Given the description of an element on the screen output the (x, y) to click on. 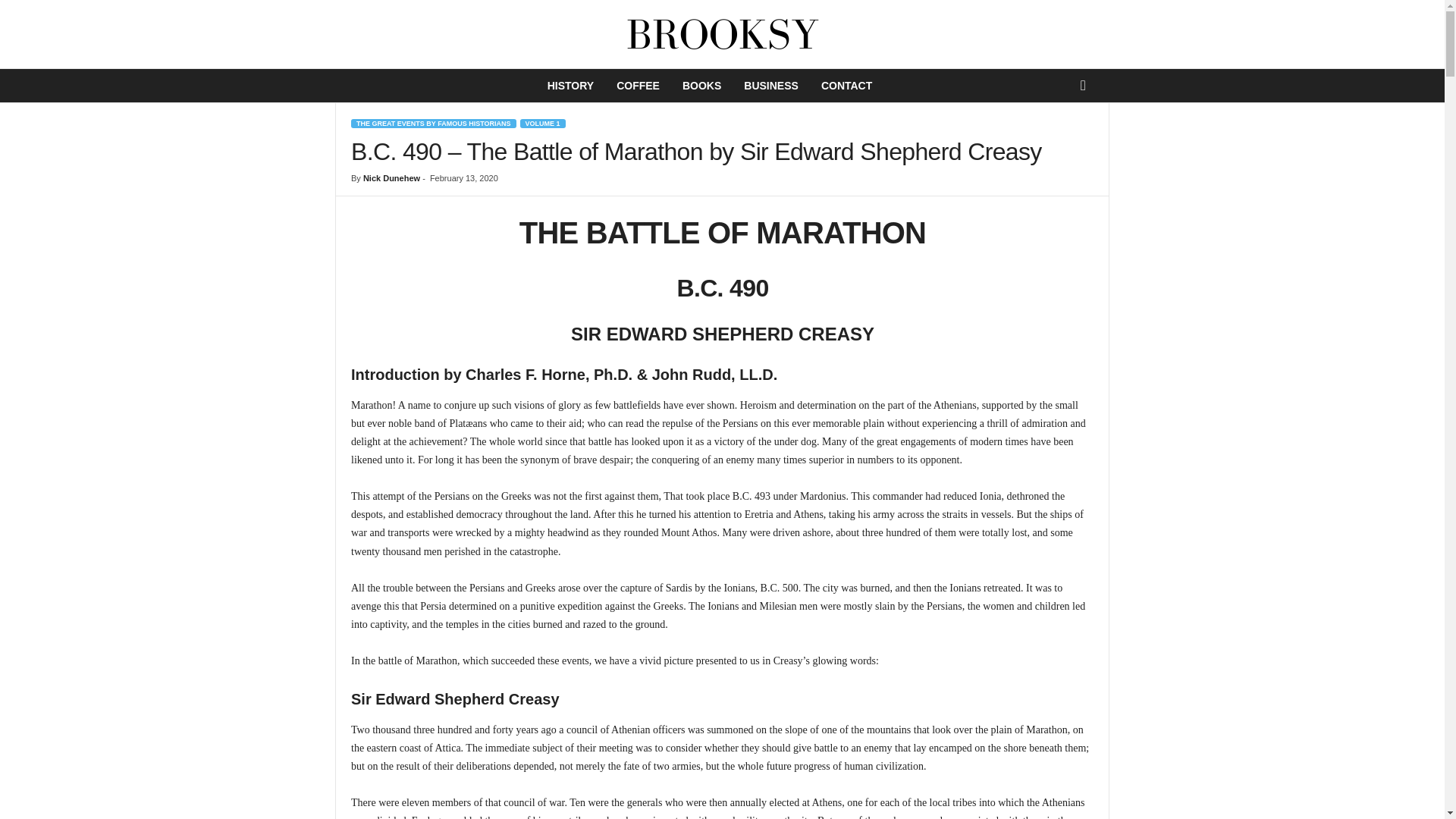
Nick Dunehew (391, 177)
CONTACT (846, 85)
THE GREAT EVENTS BY FAMOUS HISTORIANS (433, 122)
BOOKS (701, 85)
COFFEE (638, 85)
HISTORY (570, 85)
VOLUME 1 (542, 122)
BUSINESS (770, 85)
